Given the description of an element on the screen output the (x, y) to click on. 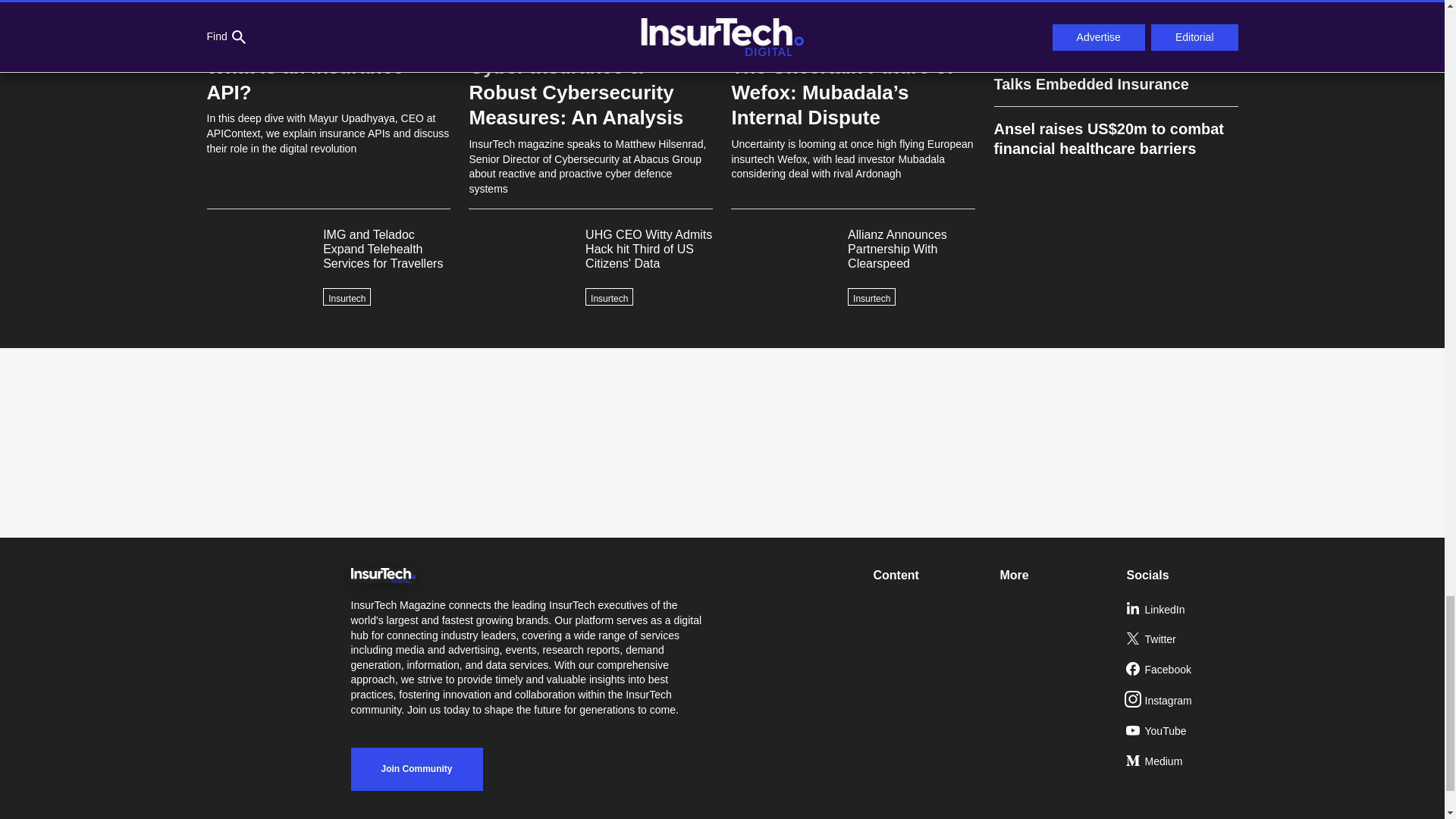
Comarch Diagnostic Point: Next Gen European Health Insurance (1114, 21)
Join Community (415, 769)
MoneyLIVE Summit 2024: Qover Talks Embedded Insurance (1114, 74)
